Given the description of an element on the screen output the (x, y) to click on. 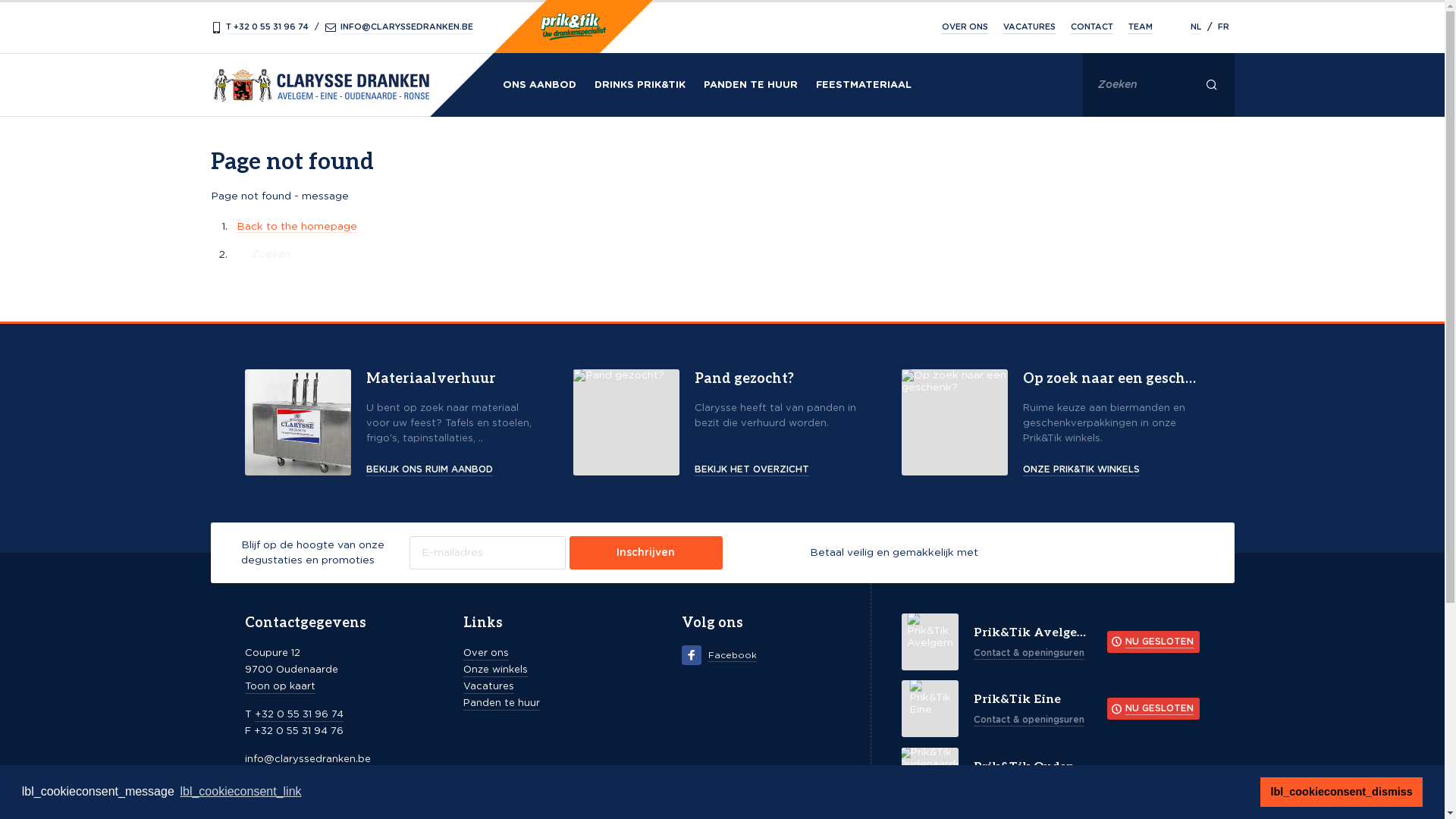
ONS AANBOD Element type: text (538, 84)
Onze winkels Element type: text (495, 671)
Facebook Element type: text (720, 655)
CONTACT Element type: text (1091, 28)
T +32 0 55 31 96 74 Element type: text (260, 26)
BEKIJK HET OVERZICHT Element type: text (782, 468)
info@claryssedranken.be Element type: text (307, 760)
Materiaalverhuur Element type: text (453, 385)
lbl_cookieconsent_link Element type: text (240, 791)
DRINKS PRIK&TIK Element type: text (639, 84)
FR Element type: text (1223, 28)
VACATURES Element type: text (1028, 28)
PANDEN TE HUUR Element type: text (750, 84)
Pand gezocht? Element type: text (782, 385)
ONZE PRIK&TIK WINKELS Element type: text (1110, 468)
Inschrijven Element type: text (645, 552)
Vacatures Element type: text (488, 687)
OVER ONS Element type: text (964, 28)
Over ons Element type: text (485, 654)
INFO@CLARYSSEDRANKEN.BE Element type: text (398, 26)
Panden te huur Element type: text (501, 704)
Toon op kaart Element type: text (279, 687)
Contact & openingsuren Element type: text (1029, 719)
Contact & openingsuren Element type: text (1029, 652)
lbl_cookieconsent_dismiss Element type: text (1341, 791)
BEKIJK ONS RUIM AANBOD Element type: text (453, 468)
Op zoek naar een geschenk? Element type: text (1110, 385)
TEAM Element type: text (1140, 28)
NL Element type: text (1195, 28)
FEESTMATERIAAL Element type: text (863, 84)
+32 0 55 31 96 74 Element type: text (298, 715)
Back to the homepage Element type: text (296, 226)
Contact & openingsuren Element type: text (1029, 786)
